Given the description of an element on the screen output the (x, y) to click on. 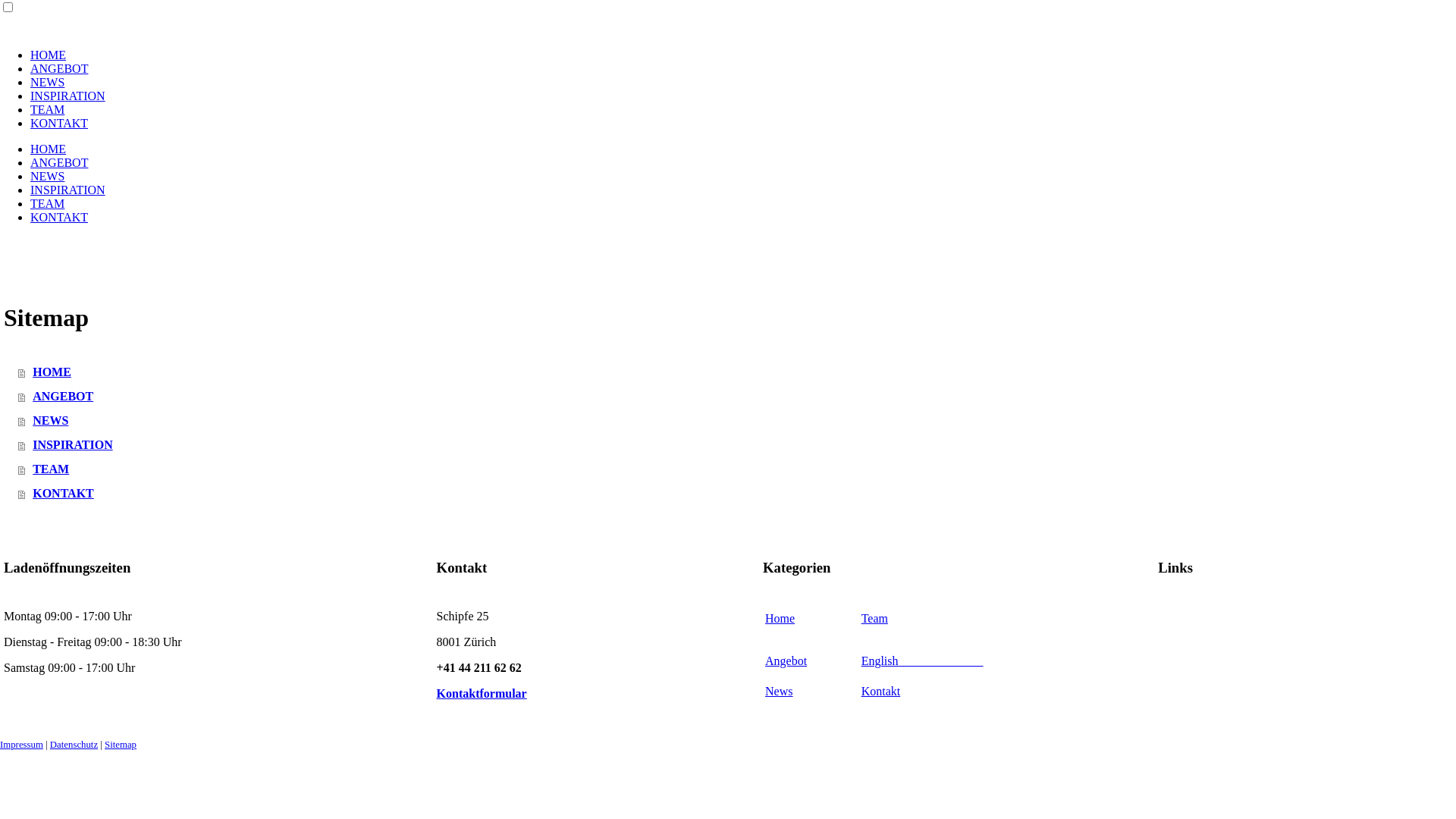
TEAM Element type: text (47, 109)
English                             Element type: text (922, 660)
ANGEBOT Element type: text (58, 162)
Home Element type: text (779, 617)
INSPIRATION Element type: text (67, 189)
Kontakt Element type: text (880, 690)
INSPIRATION Element type: text (67, 95)
Sitemap Element type: text (120, 744)
Impressum Element type: text (21, 744)
NEWS Element type: text (47, 175)
NEWS Element type: text (47, 81)
KONTAKT Element type: text (58, 122)
HOME Element type: text (47, 54)
TEAM Element type: text (47, 203)
ANGEBOT Element type: text (58, 68)
HOME Element type: text (47, 148)
News Element type: text (778, 690)
Datenschutz Element type: text (73, 744)
KONTAKT Element type: text (58, 216)
Team Element type: text (874, 617)
Angebot Element type: text (785, 660)
Kontaktformular Element type: text (481, 693)
